Given the description of an element on the screen output the (x, y) to click on. 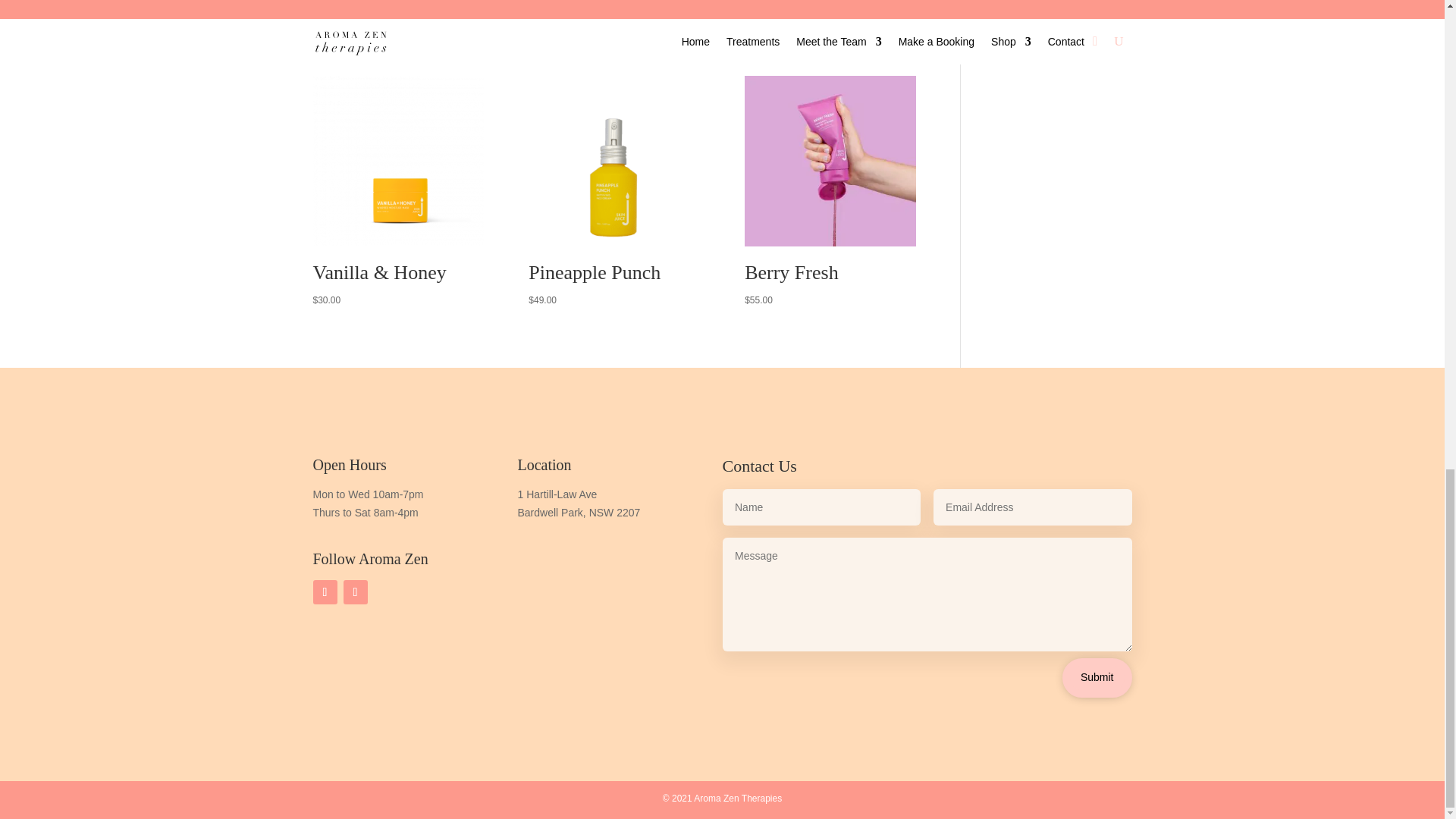
Follow on Facebook (324, 591)
Follow on Instagram (354, 591)
